Given the description of an element on the screen output the (x, y) to click on. 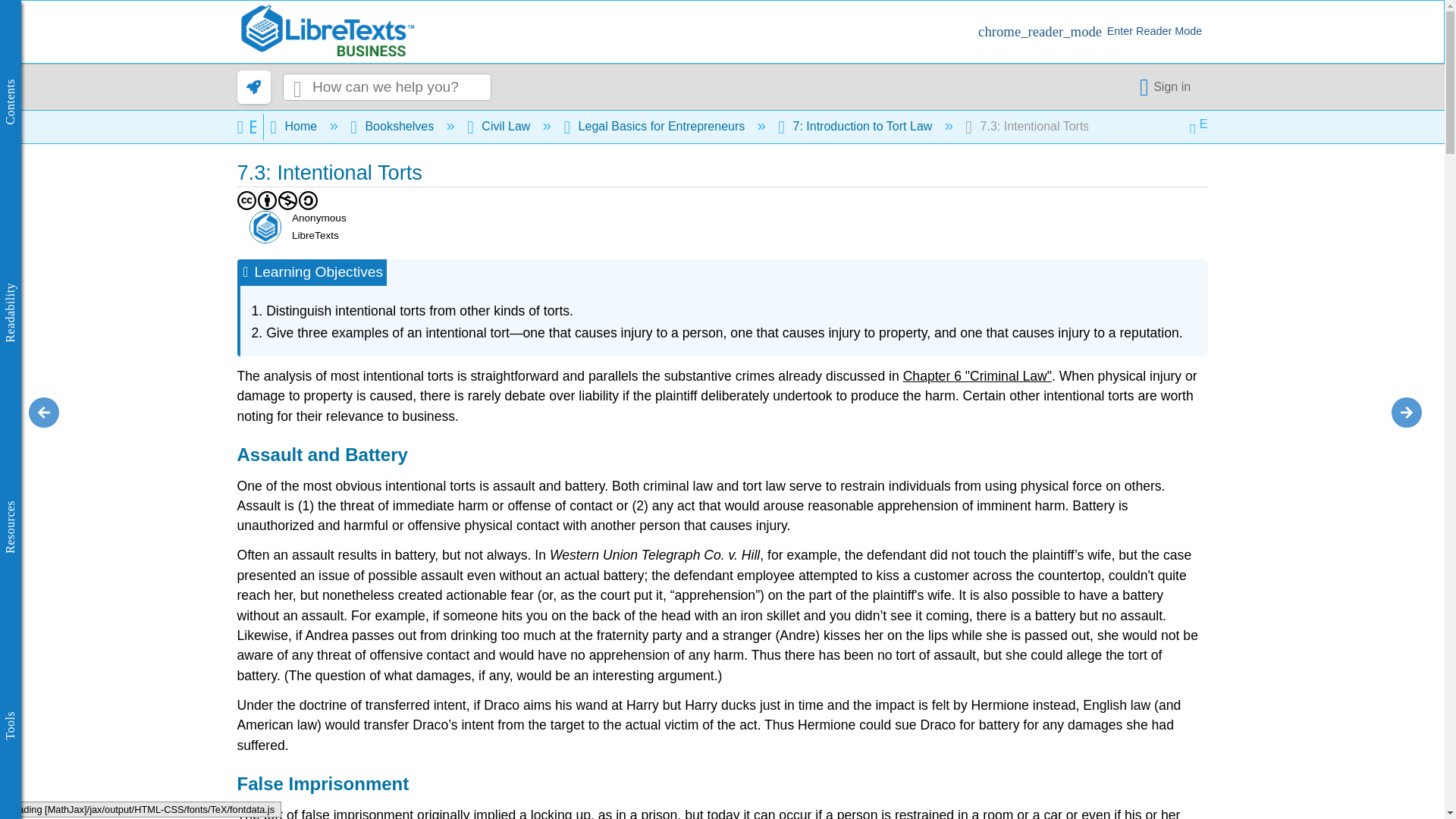
Anonymous (265, 226)
CC (246, 199)
BY (267, 199)
NC (288, 199)
Single Sign-On (1167, 86)
SA (307, 199)
